Given the description of an element on the screen output the (x, y) to click on. 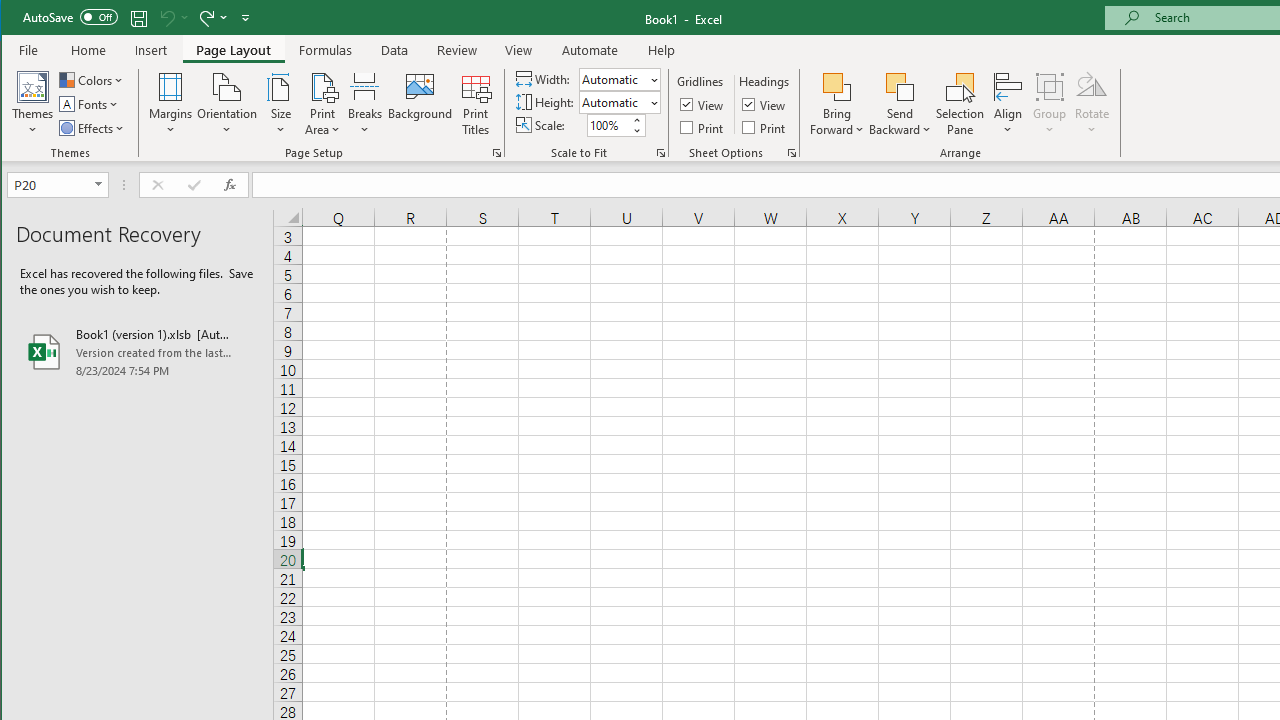
Print Area (323, 104)
Breaks (365, 104)
Bring Forward (836, 86)
More (636, 120)
Scale (607, 125)
Group (1050, 104)
